Given the description of an element on the screen output the (x, y) to click on. 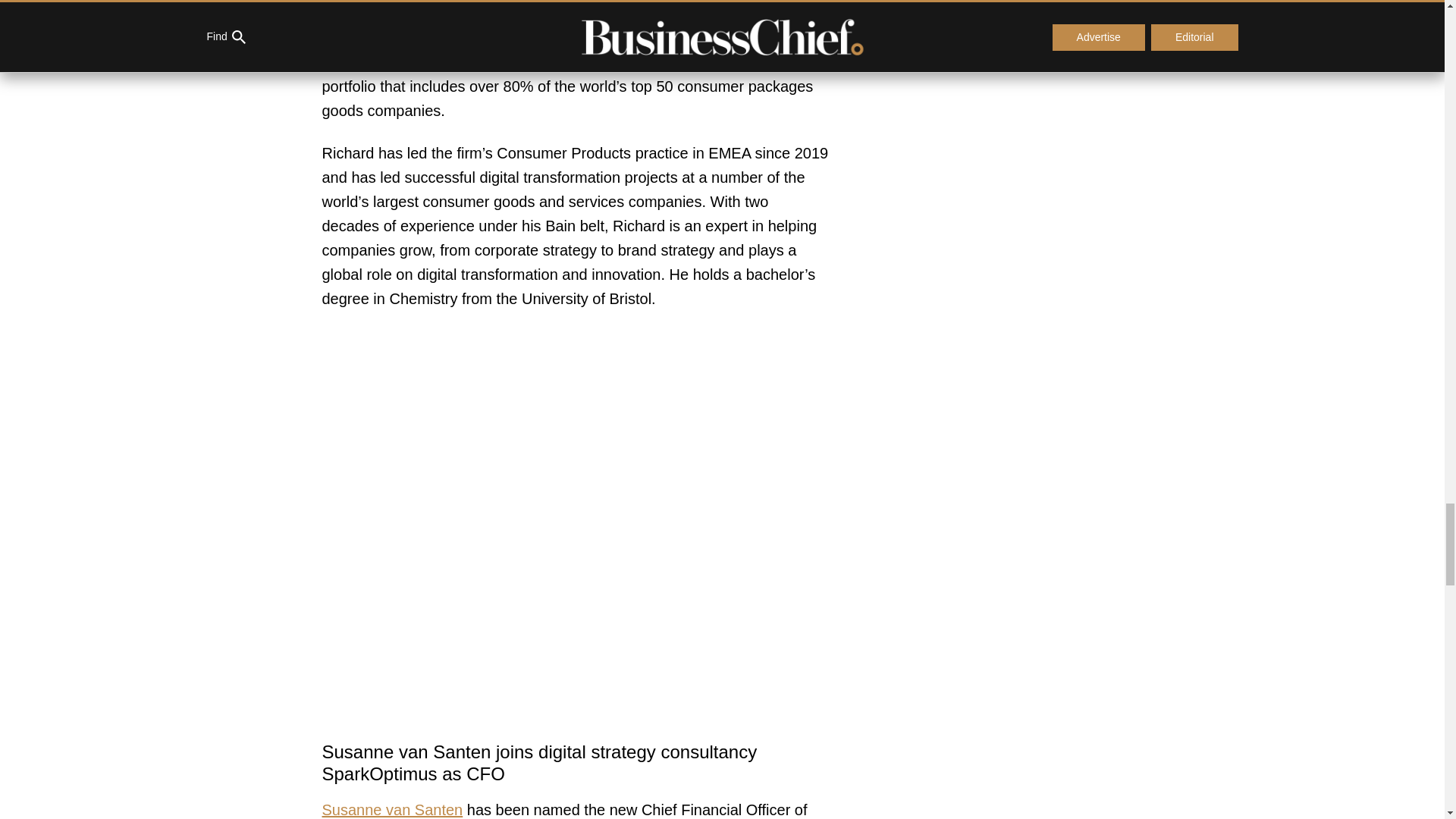
Richard Webster (554, 13)
Susanne van Santen (392, 809)
